Given the description of an element on the screen output the (x, y) to click on. 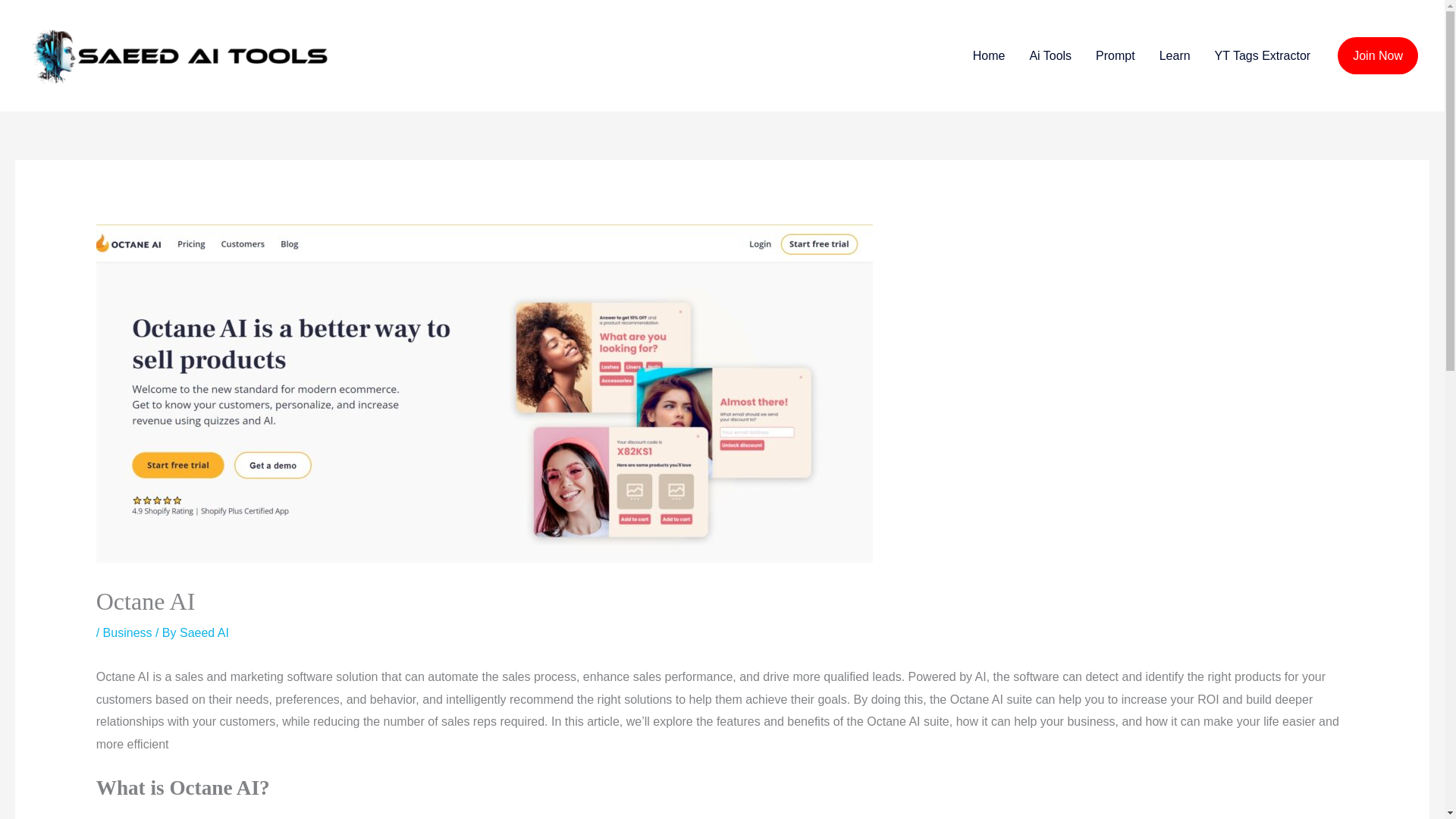
Home (988, 54)
Ai Tools (1049, 54)
Prompt (1115, 54)
YT Tags Extractor (1262, 54)
Join Now (1378, 55)
View all posts by Saeed AI (203, 632)
Learn (1174, 54)
Saeed AI (203, 632)
Business (127, 632)
